Given the description of an element on the screen output the (x, y) to click on. 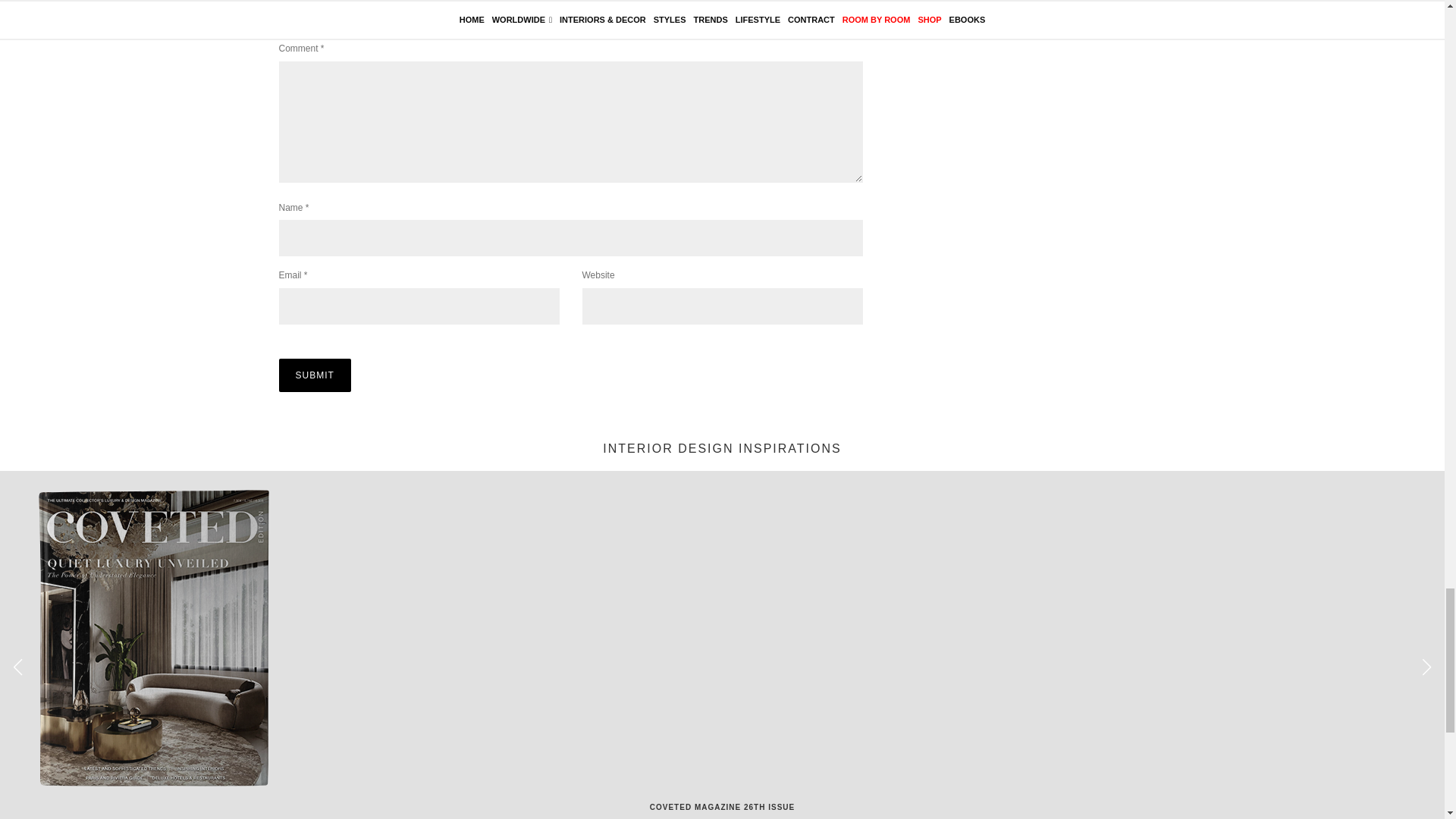
Submit (314, 375)
